Given the description of an element on the screen output the (x, y) to click on. 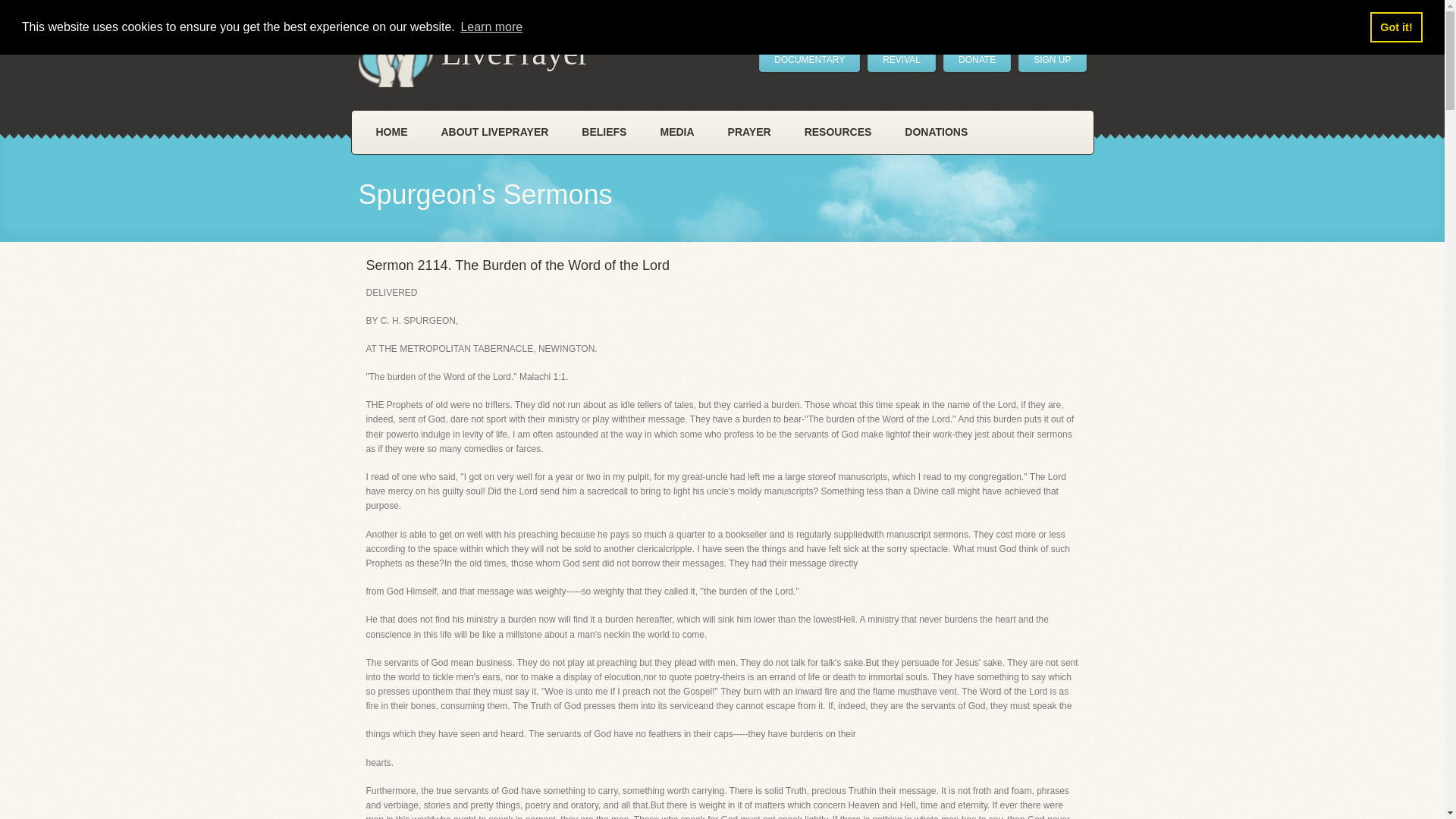
ABOUT LIVEPRAYER (495, 131)
REVIVAL (901, 59)
Learn more (491, 26)
MEDIA (676, 131)
Got it! (1396, 27)
HOME (392, 131)
DONATE (976, 59)
BELIEFS (603, 131)
DOCUMENTARY (809, 59)
SIGN UP (1051, 59)
LivePrayer (473, 56)
